Given the description of an element on the screen output the (x, y) to click on. 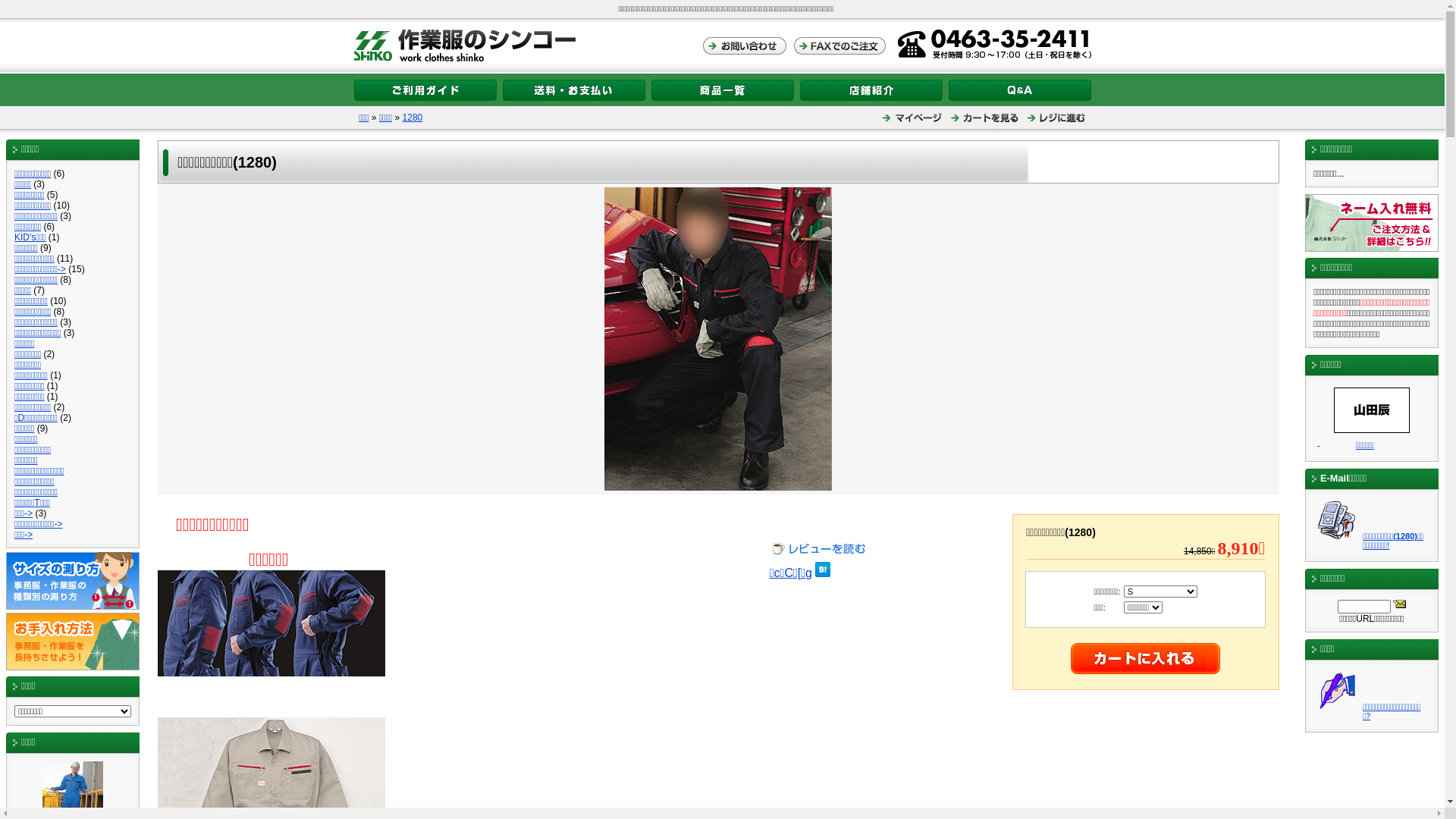
1280 Element type: text (412, 117)
